Given the description of an element on the screen output the (x, y) to click on. 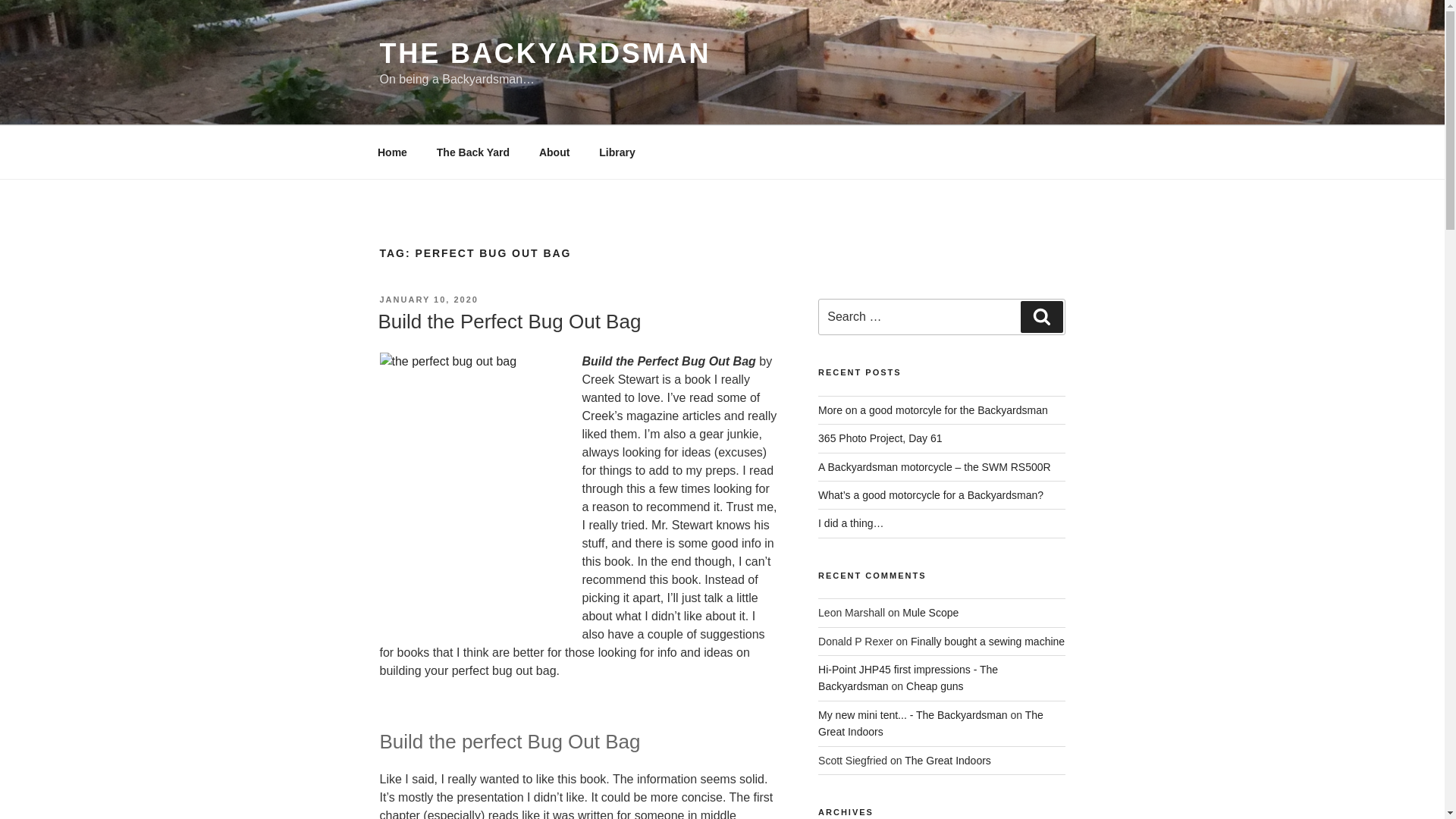
The Back Yard (472, 151)
Library (616, 151)
Search (1041, 316)
365 Photo Project, Day 61 (880, 438)
Mule Scope (930, 612)
Build the Perfect Bug Out Bag (508, 321)
Hi-Point JHP45 first impressions - The Backyardsman (907, 677)
THE BACKYARDSMAN (544, 52)
The Great Indoors (947, 760)
Cheap guns (934, 686)
